Given the description of an element on the screen output the (x, y) to click on. 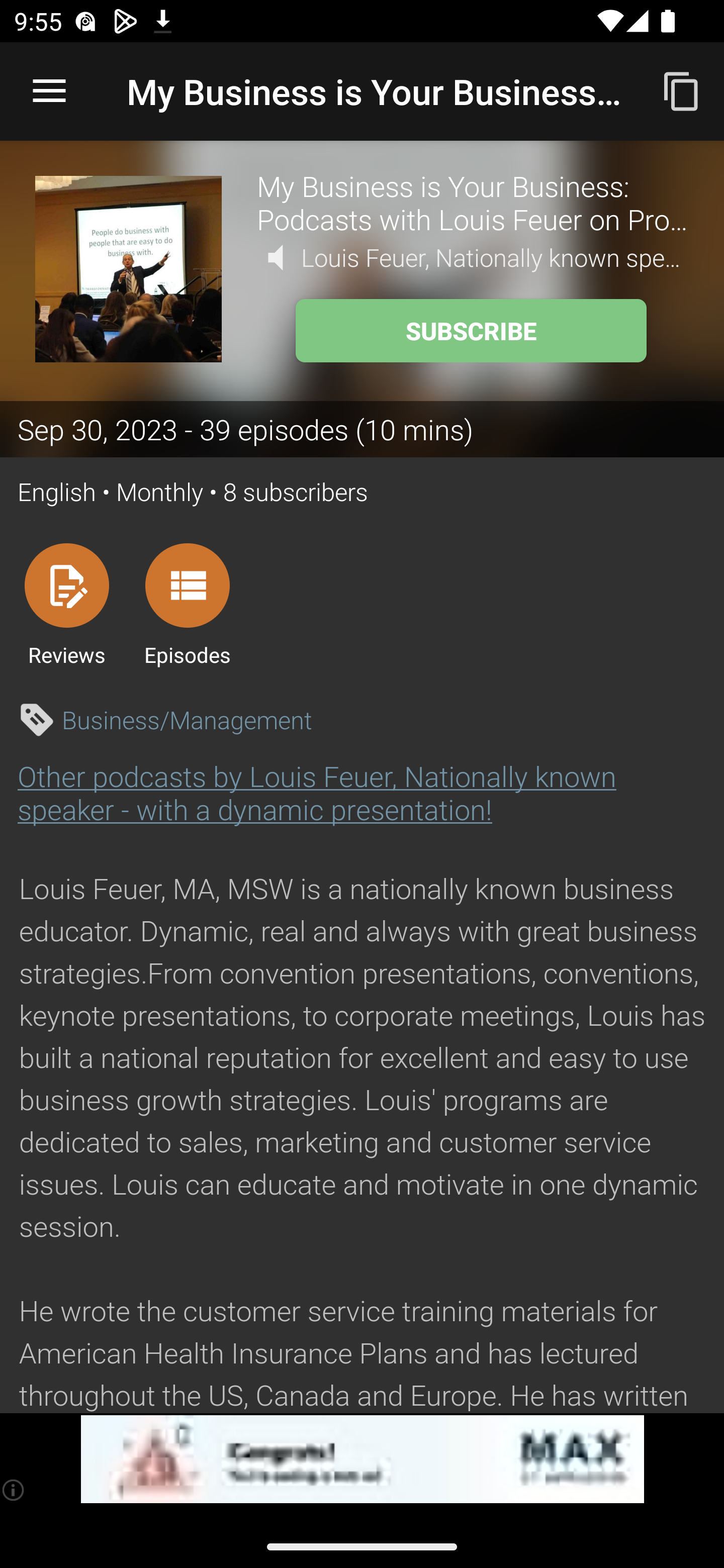
Open navigation sidebar (49, 91)
Copy feed url to clipboard (681, 90)
SUBSCRIBE (470, 330)
Reviews (66, 604)
Episodes (187, 604)
app-monetization (362, 1459)
(i) (14, 1489)
